Given the description of an element on the screen output the (x, y) to click on. 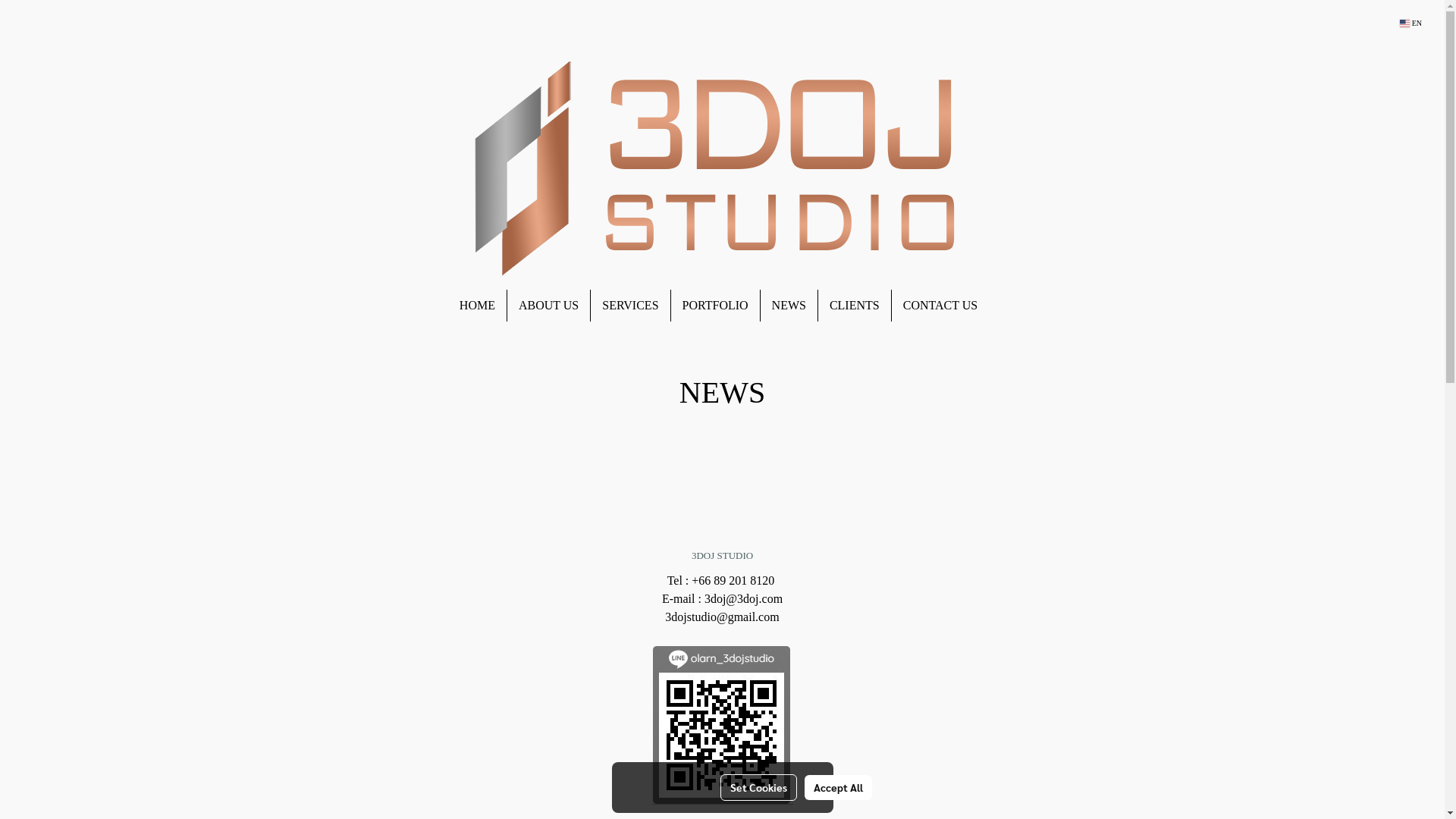
Accept All Element type: text (838, 787)
CONTACT US Element type: text (939, 305)
SERVICES Element type: text (629, 305)
3DOJ STUDIO Element type: text (722, 555)
HOME Element type: text (477, 305)
NEWS Element type: text (788, 305)
ABOUT US Element type: text (548, 305)
EN Element type: text (1410, 23)
Set Cookies Element type: text (758, 787)
logo Element type: hover (721, 168)
CLIENTS Element type: text (854, 305)
PORTFOLIO Element type: text (715, 305)
3dojstudio@gmail.com Element type: text (721, 616)
